Given the description of an element on the screen output the (x, y) to click on. 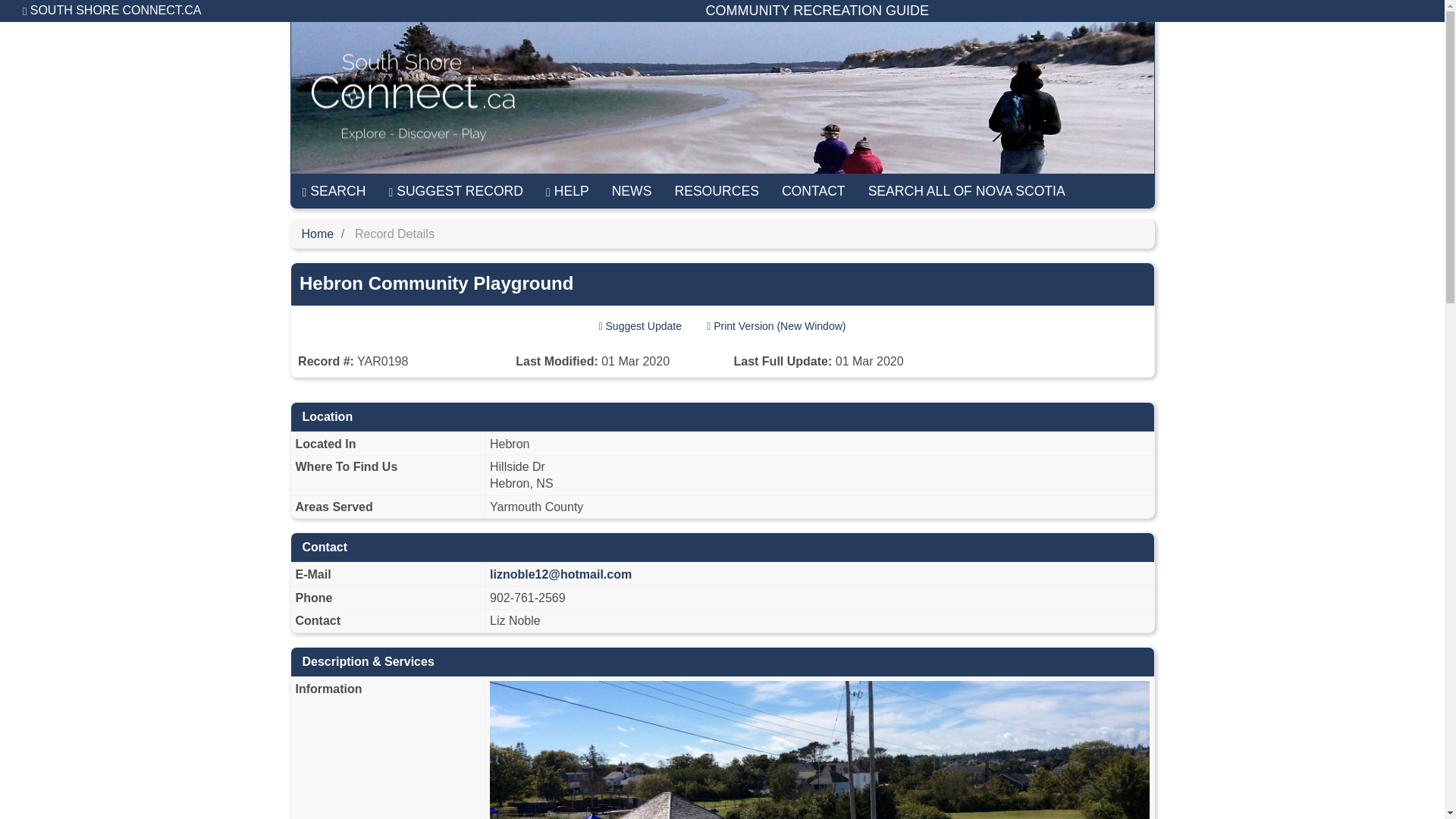
SUGGEST RECORD (456, 191)
SEARCH ALL OF NOVA SCOTIA (967, 191)
RESOURCES (716, 191)
Suggest Update (640, 326)
SEARCH (334, 191)
Home (317, 233)
HELP (566, 191)
SOUTH SHORE CONNECT.CA (111, 10)
CONTACT (813, 191)
NEWS (631, 191)
